Given the description of an element on the screen output the (x, y) to click on. 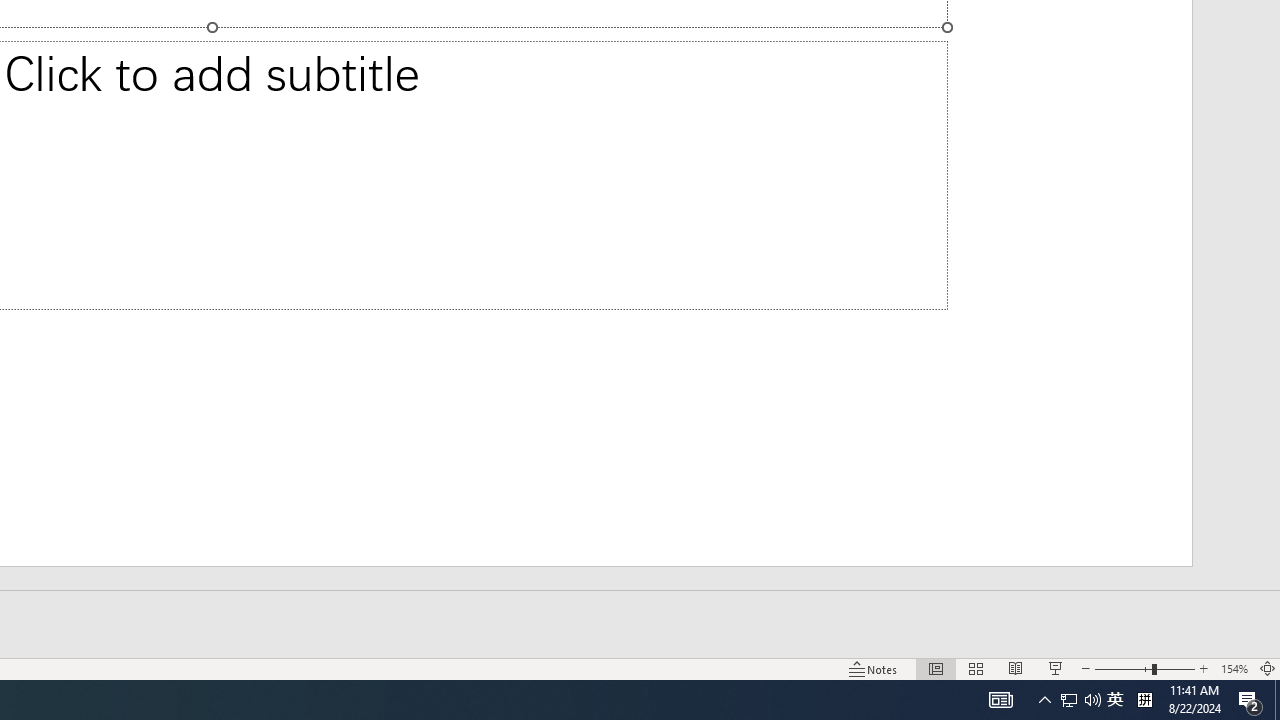
Zoom 154% (1234, 668)
